Given the description of an element on the screen output the (x, y) to click on. 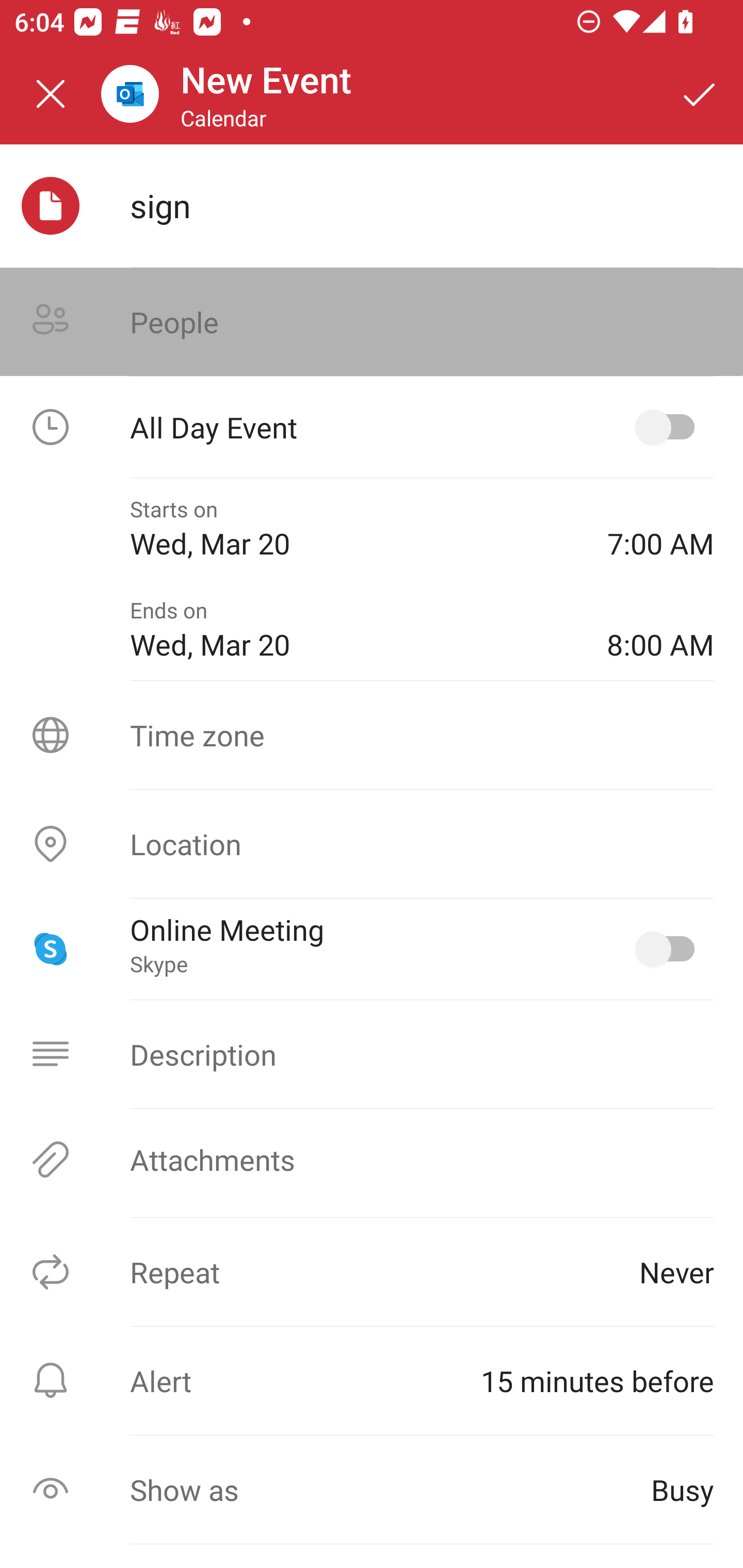
Close (50, 93)
Save (699, 93)
sign (422, 205)
sign selected, event icon picker (50, 206)
People (371, 322)
All Day Event (371, 427)
Starts on Wed, Mar 20 (353, 528)
7:00 AM (660, 528)
Ends on Wed, Mar 20 (353, 629)
8:00 AM (660, 629)
Time zone (371, 734)
Location (371, 844)
Online Meeting, Skype selected (669, 949)
Description (371, 1054)
Attachments (371, 1159)
Repeat Never (371, 1272)
Alert ⁨15 minutes before (371, 1380)
Show as Busy (371, 1489)
